Given the description of an element on the screen output the (x, y) to click on. 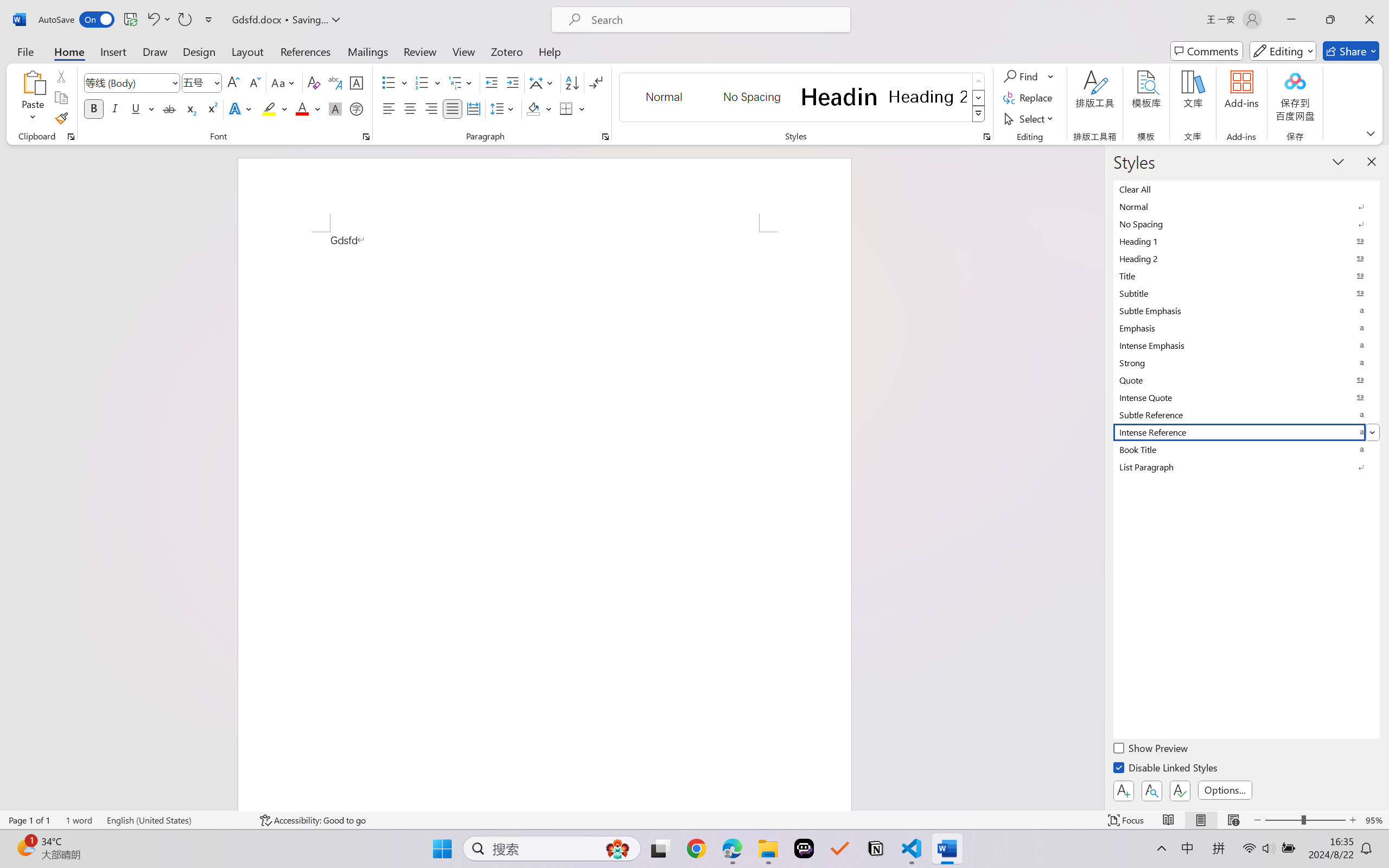
Options... (1224, 789)
Text Highlight Color (274, 108)
Justify (452, 108)
Character Border (356, 82)
Increase Indent (512, 82)
Emphasis (1246, 327)
